Given the description of an element on the screen output the (x, y) to click on. 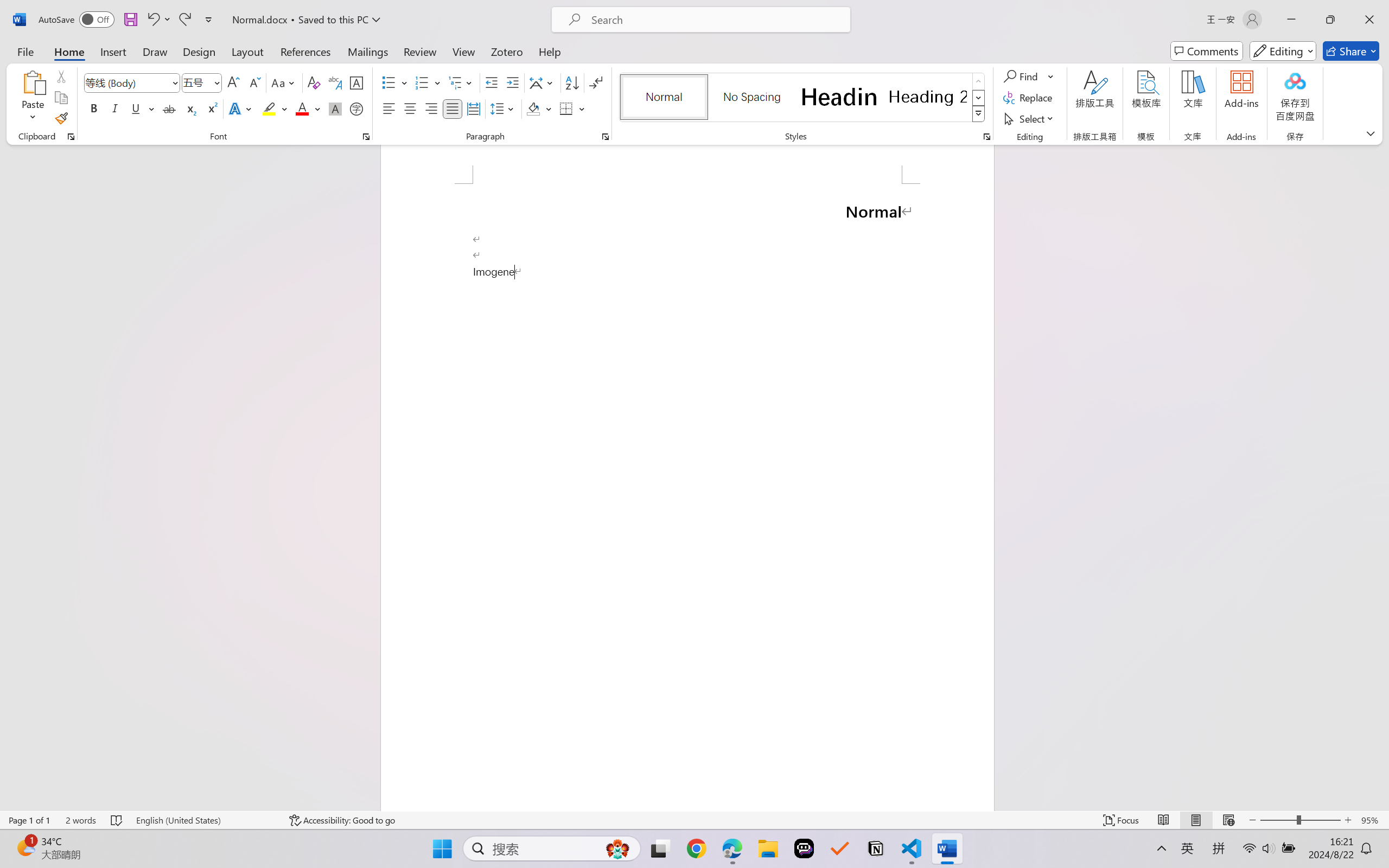
Center (409, 108)
Font... (365, 136)
Asian Layout (542, 82)
Enclose Characters... (356, 108)
Class: MsoCommandBar (694, 819)
Superscript (210, 108)
Undo Typing (158, 19)
Heading 2 (927, 96)
